Given the description of an element on the screen output the (x, y) to click on. 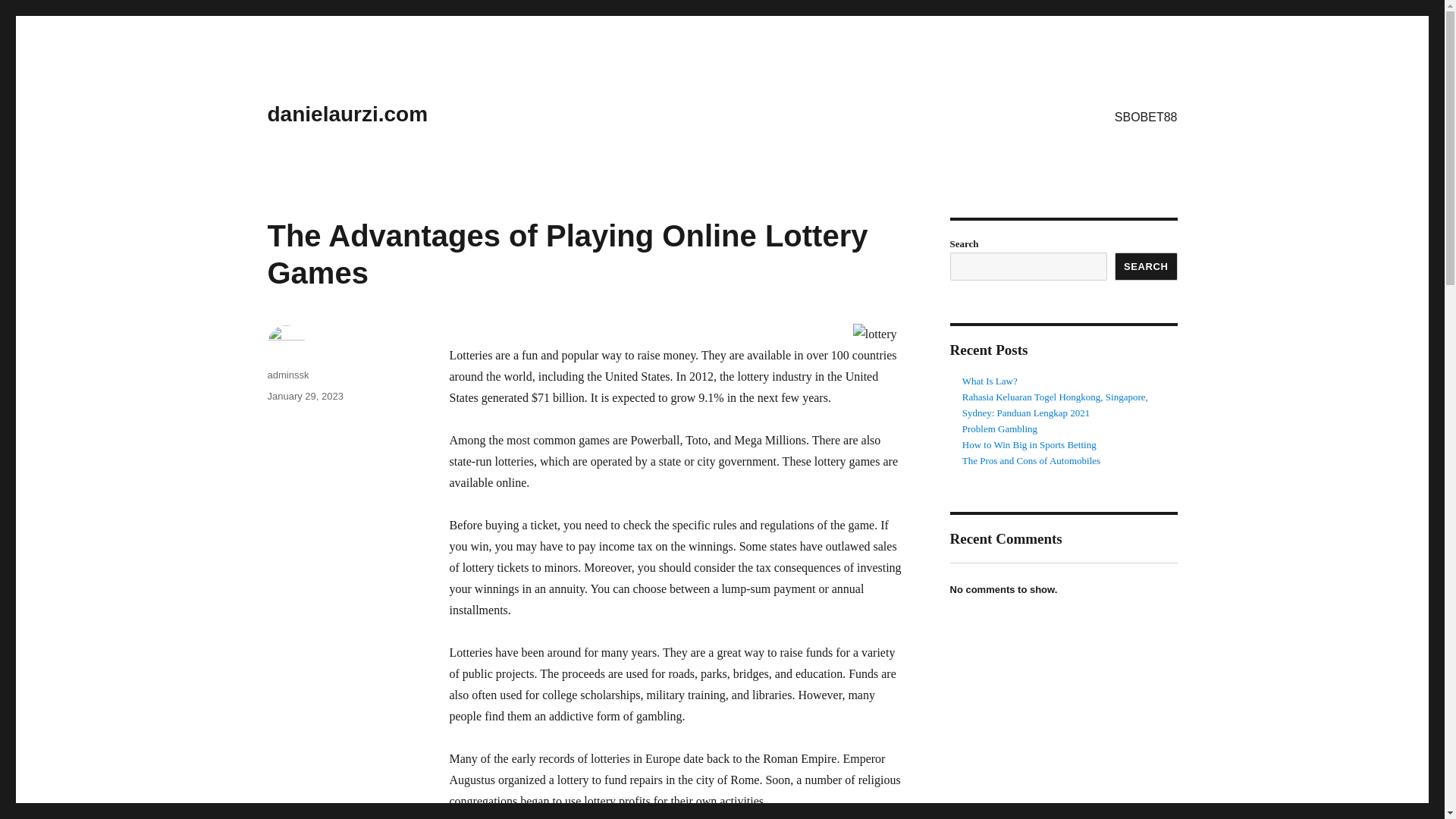
January 29, 2023 (304, 396)
SBOBET88 (1145, 116)
The Pros and Cons of Automobiles (1031, 460)
How to Win Big in Sports Betting (1029, 444)
Problem Gambling (999, 428)
What Is Law? (989, 380)
danielaurzi.com (347, 114)
SEARCH (1146, 266)
adminssk (287, 374)
